Given the description of an element on the screen output the (x, y) to click on. 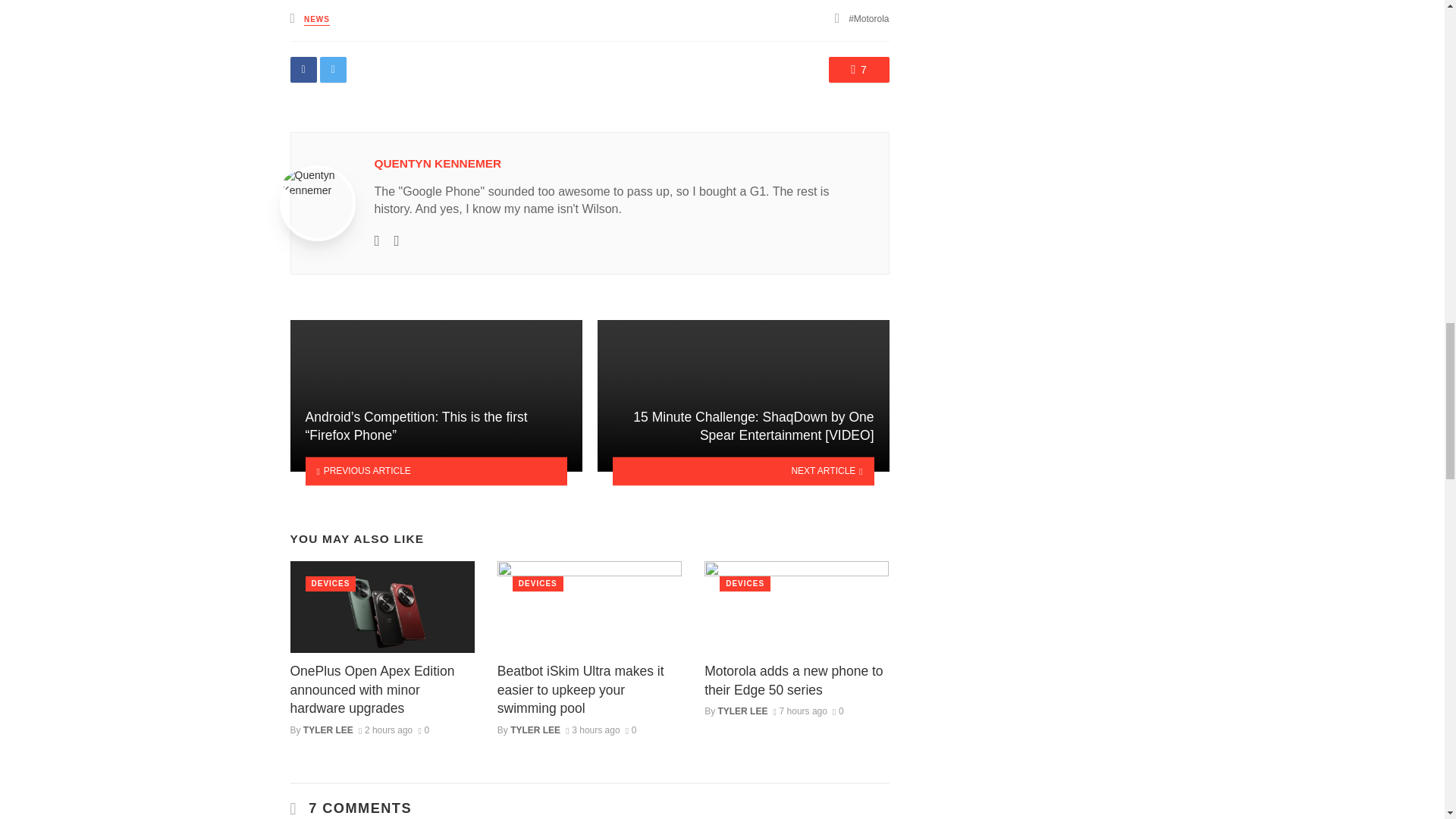
7 (858, 69)
August 1, 2024 at 11:07 am (385, 729)
Share on Twitter (333, 69)
August 1, 2024 at 5:49 am (800, 710)
Motorola (868, 18)
0 Comments (838, 710)
NEWS (317, 19)
August 1, 2024 at 10:13 am (593, 729)
7 Comments (858, 69)
PREVIOUS ARTICLE (434, 471)
Posts by Quentyn Kennemer (438, 163)
QUENTYN KENNEMER (438, 163)
0 Comments (631, 729)
Share on Facebook (302, 69)
0 Comments (423, 729)
